Given the description of an element on the screen output the (x, y) to click on. 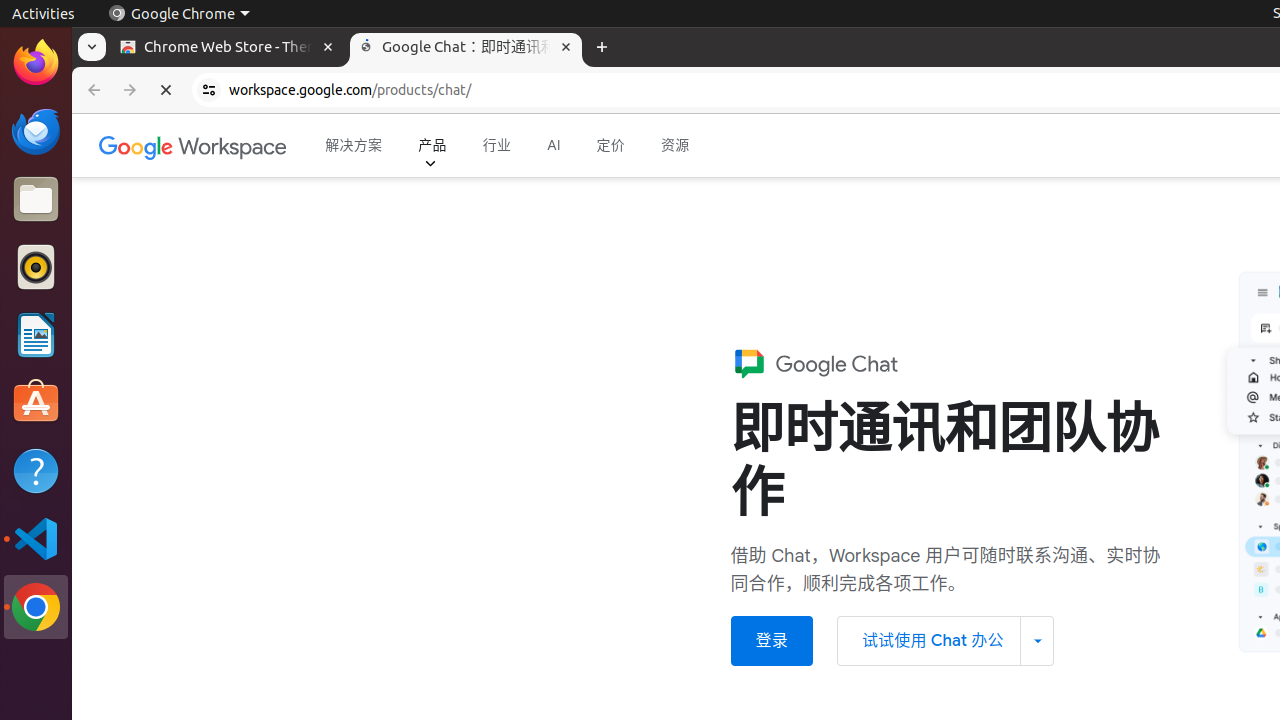
Forward Element type: push-button (130, 90)
Ubuntu Software Element type: push-button (36, 402)
Files Element type: push-button (36, 199)
定价 Element type: link (611, 146)
Google Workspace Element type: link (194, 146)
